Given the description of an element on the screen output the (x, y) to click on. 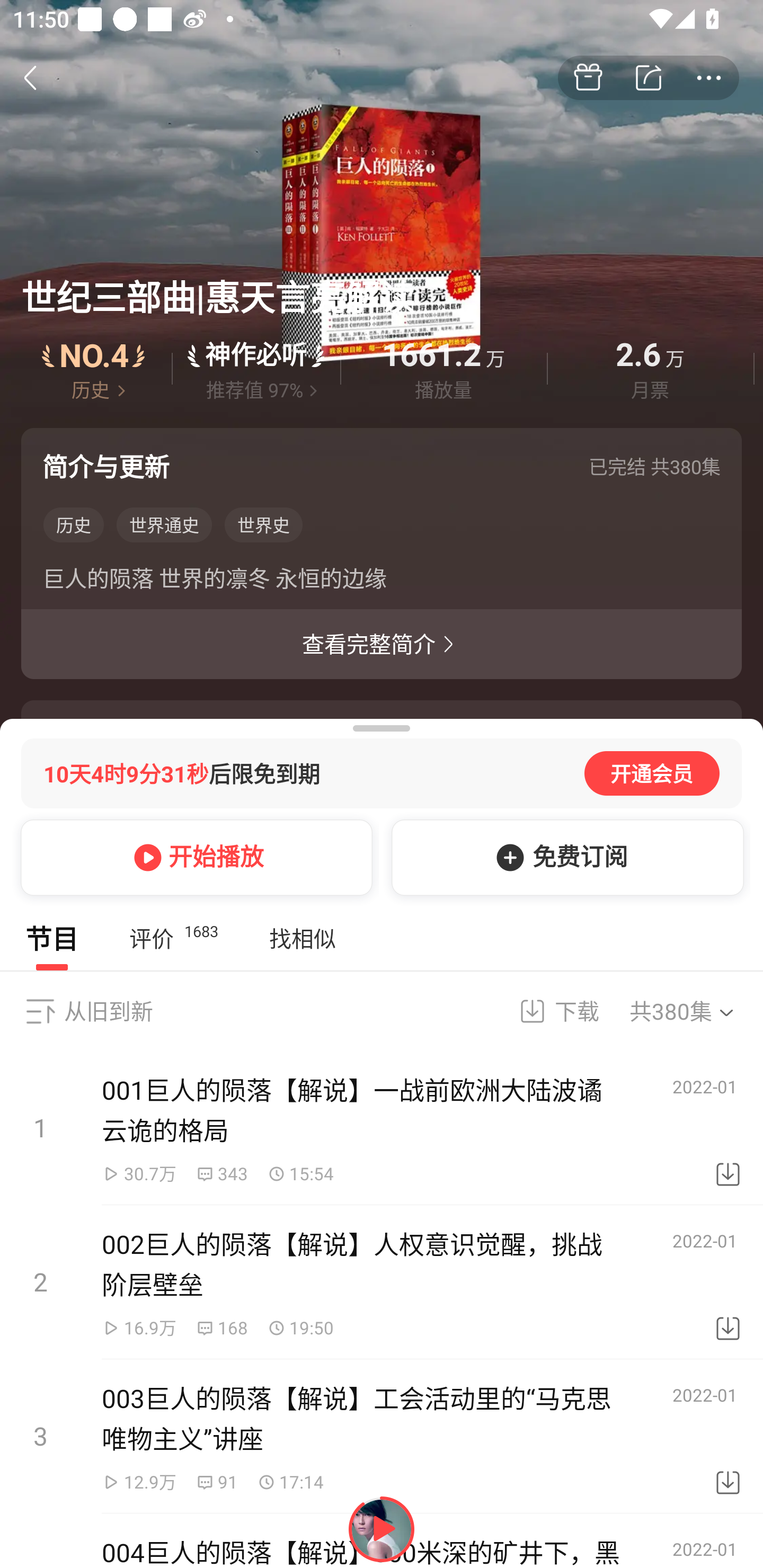
返回 (40, 77)
买赠 (587, 78)
分享 (648, 78)
更多 (709, 78)
排行榜 (93, 368)
评价 (255, 368)
历史 (73, 525)
世界通史 (164, 525)
世界史 (263, 525)
巨人的陨落 世界的凛冬 永恒的边缘 (381, 582)
查看完整简介 (381, 643)
开始播放 (193, 857)
免费订阅 (564, 857)
节目 (51, 938)
评价  1683 (173, 938)
找相似 (302, 938)
排序，从旧到新 (40, 1011)
从旧到新 (108, 1011)
下载 (546, 1011)
共380集 选集，共380集 (693, 1011)
下载 (728, 1127)
下载 (728, 1282)
下载 (728, 1436)
继续播放Alpha-橘子海OrangeOcean (381, 1529)
粉丝月票贡献榜 投月票 投月票 (381, 1546)
